Given the description of an element on the screen output the (x, y) to click on. 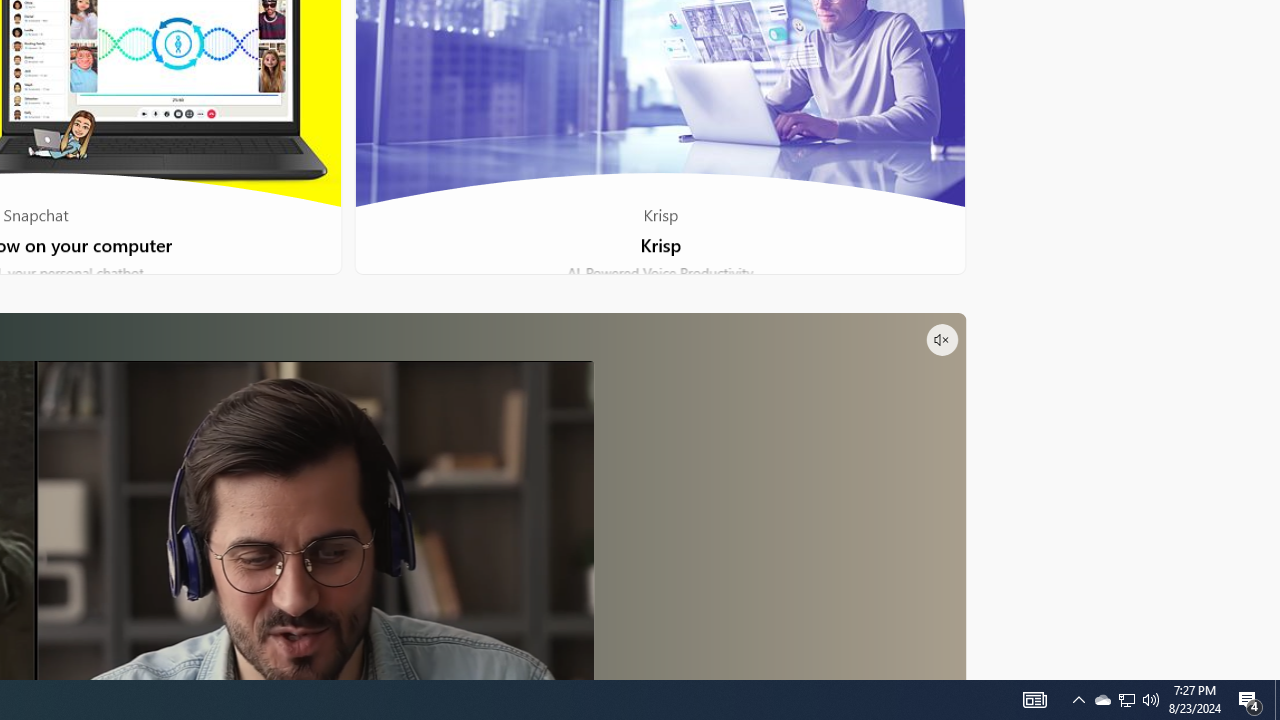
Unmute (941, 339)
